Given the description of an element on the screen output the (x, y) to click on. 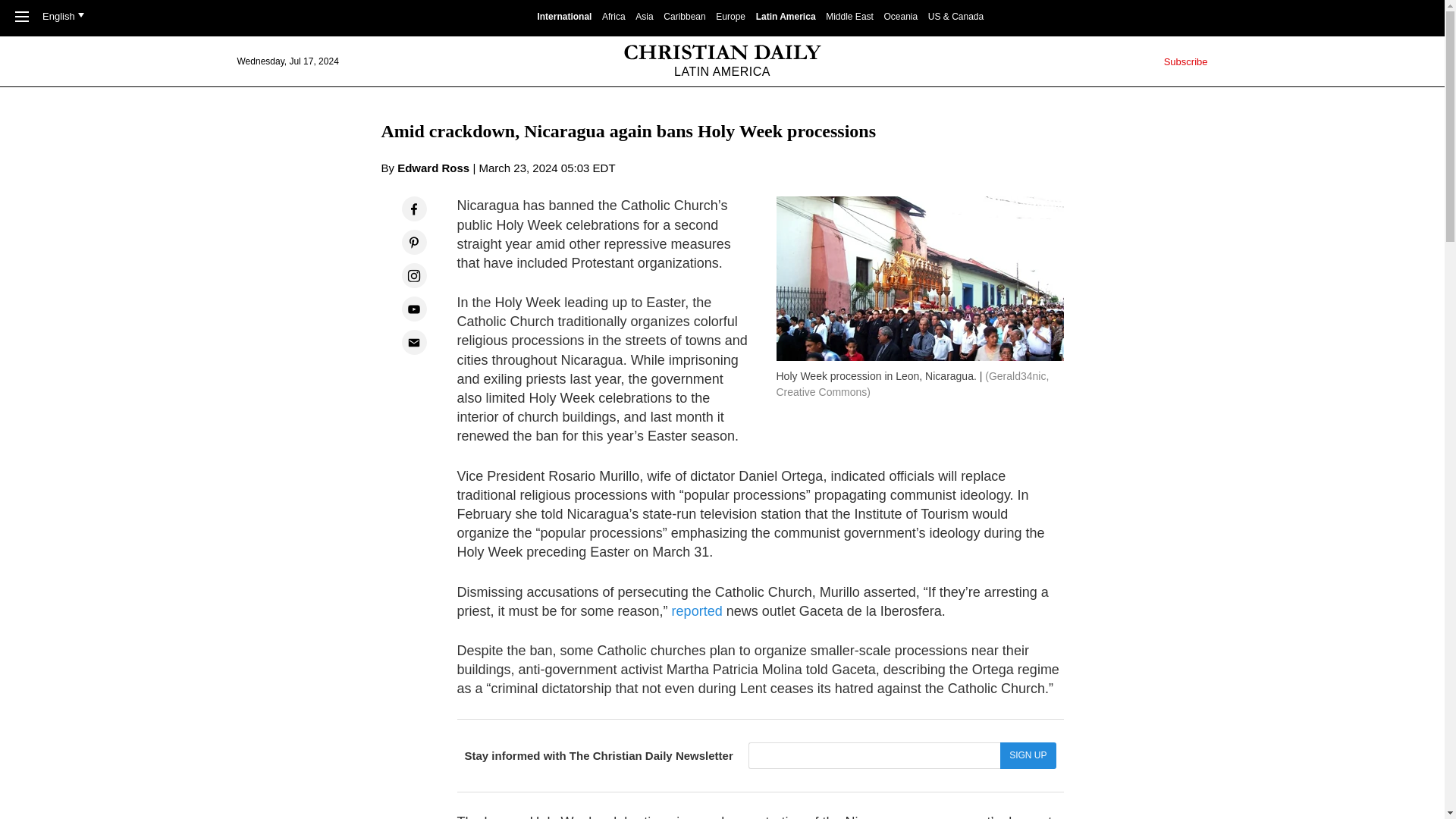
Africa (614, 16)
Caribbean (683, 16)
Africa (614, 16)
Asia (643, 16)
Oceania (900, 16)
Caribbean (683, 16)
Latin America (785, 16)
Europe (730, 16)
reported (696, 611)
Latin America (785, 16)
Middle East (849, 16)
Edward Ross (432, 167)
Middle East (849, 16)
International (564, 16)
Subscribe (1185, 60)
